Given the description of an element on the screen output the (x, y) to click on. 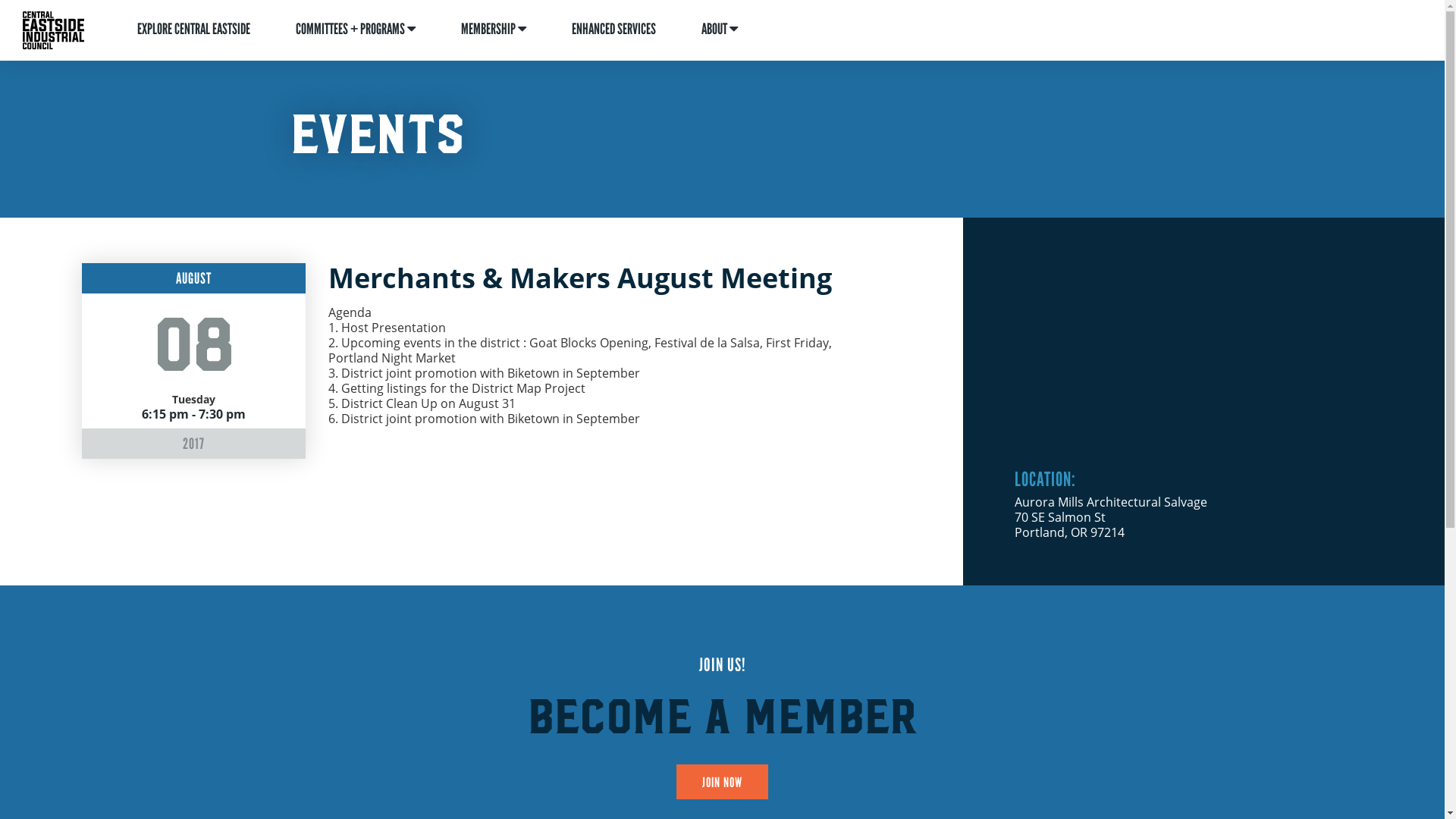
MEMBERSHIP Element type: text (493, 30)
ENHANCED SERVICES Element type: text (613, 30)
Central Eastside Industrial Council Element type: hover (53, 30)
JOIN NOW Element type: text (722, 781)
COMMITTEES + PROGRAMS Element type: text (355, 30)
EXPLORE CENTRAL EASTSIDE Element type: text (193, 30)
ABOUT Element type: text (719, 30)
